Given the description of an element on the screen output the (x, y) to click on. 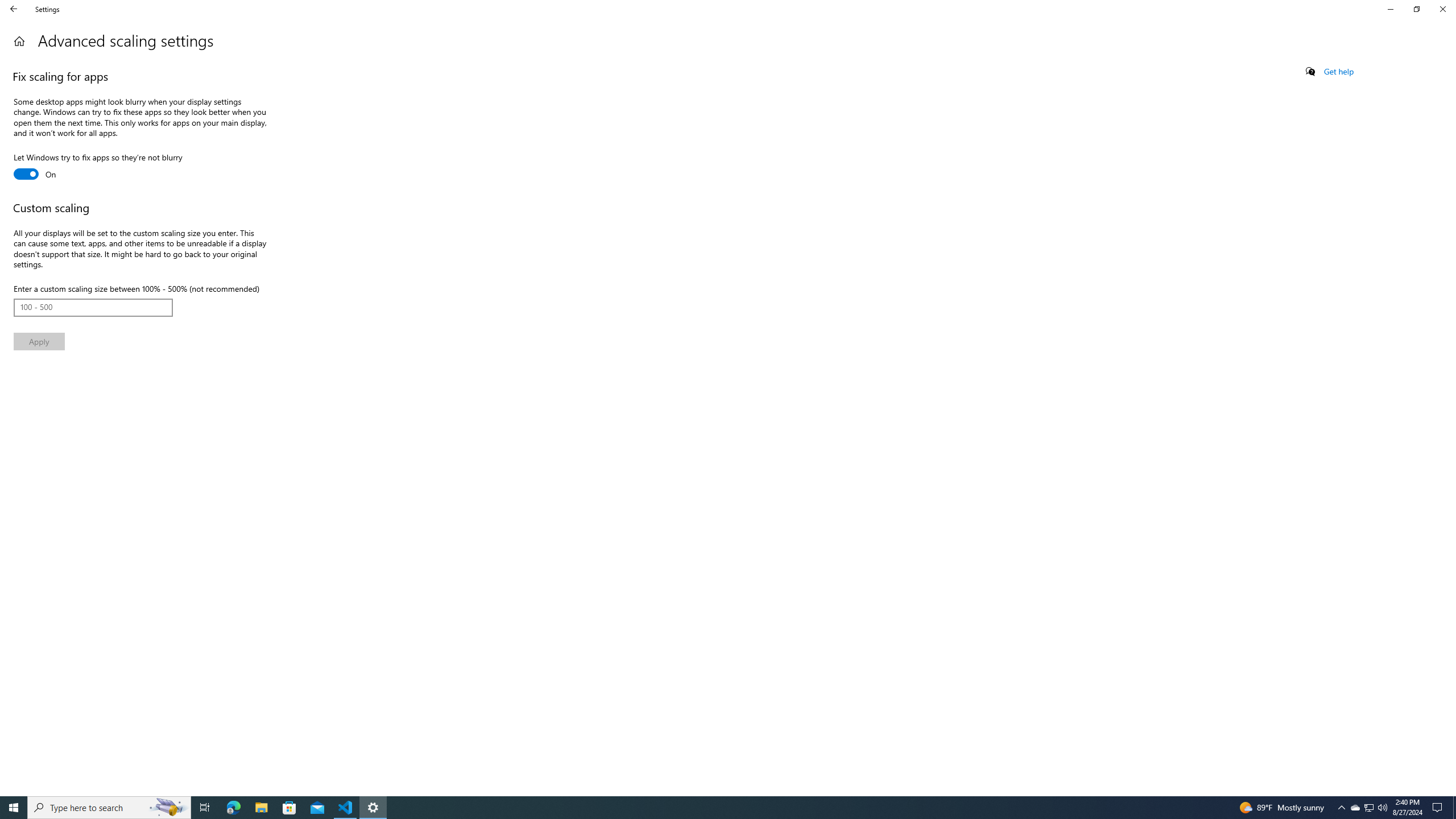
Home (19, 40)
Settings - 1 running window (373, 807)
Close Settings (1442, 9)
Apply (39, 341)
Get help (1338, 71)
Running applications (717, 807)
